Given the description of an element on the screen output the (x, y) to click on. 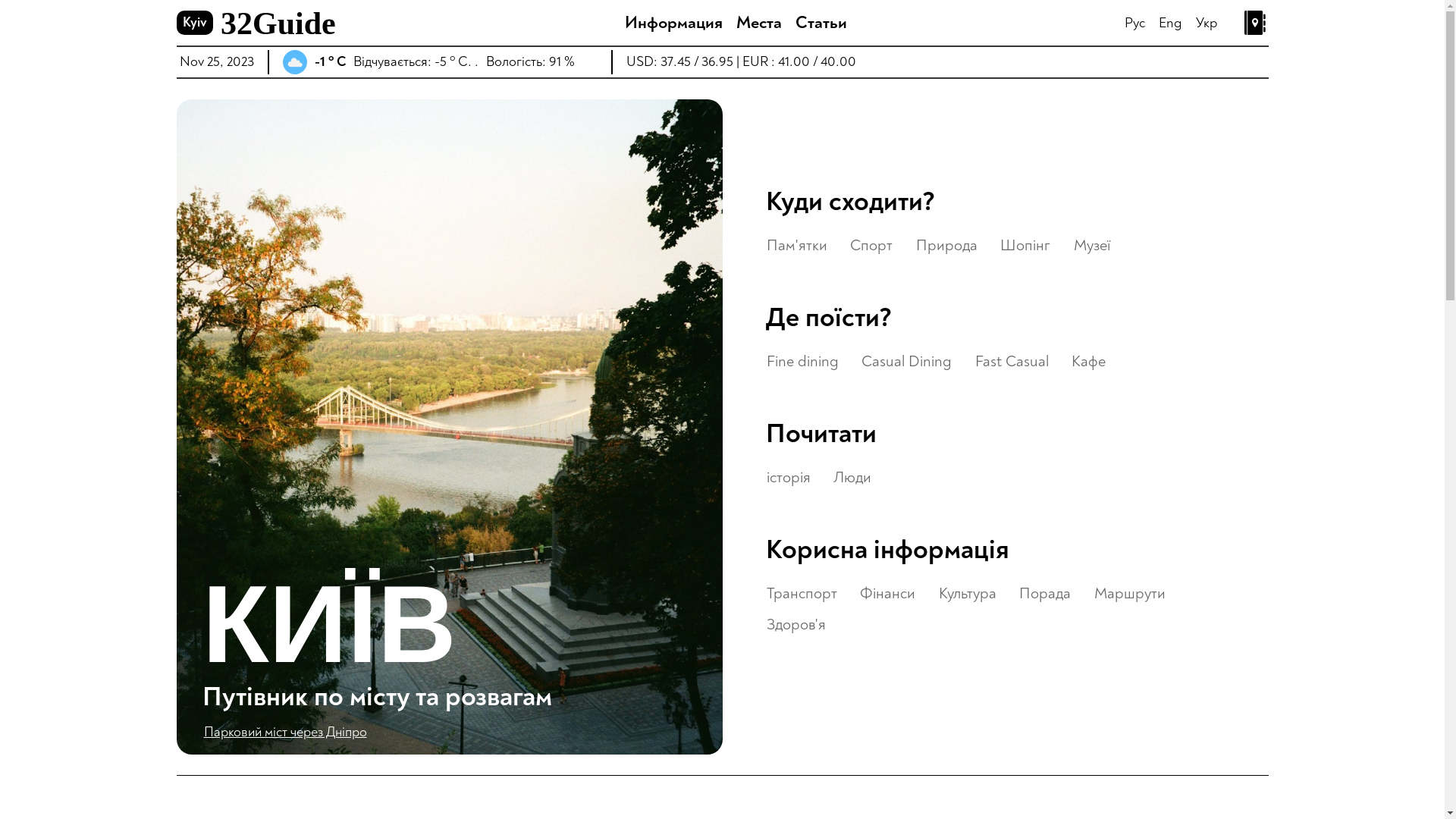
Stories Element type: text (166, 56)
Eng Element type: text (1170, 22)
Information Element type: text (166, 94)
Eng Element type: text (27, 802)
Casual Dining Element type: text (906, 361)
My list Element type: text (1255, 22)
Fast Casual Element type: text (1011, 361)
Fine dining Element type: text (802, 361)
Places Element type: text (166, 132)
